Given the description of an element on the screen output the (x, y) to click on. 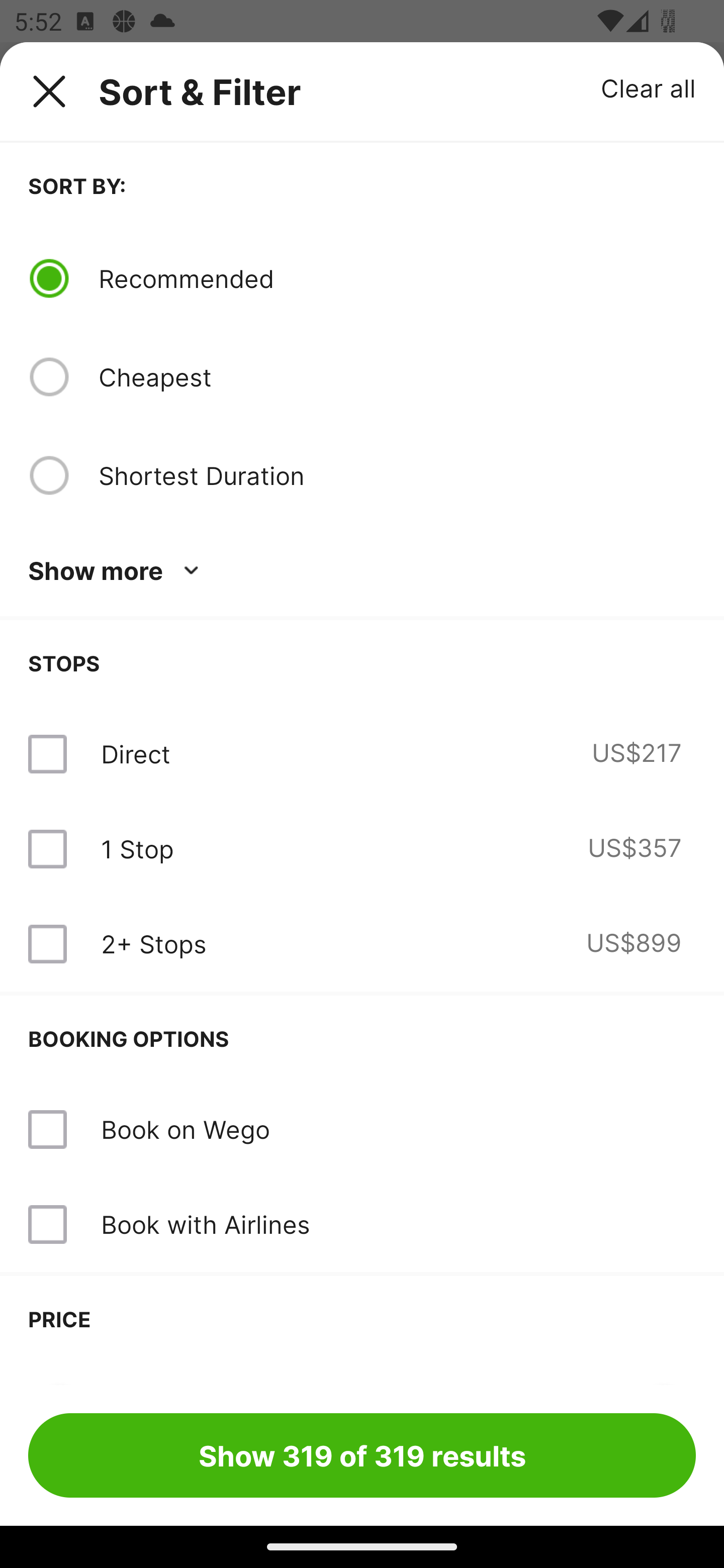
Clear all (648, 87)
Recommended  (396, 278)
Cheapest (396, 377)
Shortest Duration (396, 474)
Show more (116, 570)
Direct US$217 (362, 754)
Direct (135, 753)
1 Stop US$357 (362, 848)
1 Stop (136, 849)
2+ Stops US$899 (362, 943)
2+ Stops (153, 943)
Book on Wego (362, 1129)
Book on Wego (184, 1128)
Book with Airlines (362, 1224)
Book with Airlines (204, 1224)
Show 319 of 319 results (361, 1454)
